Given the description of an element on the screen output the (x, y) to click on. 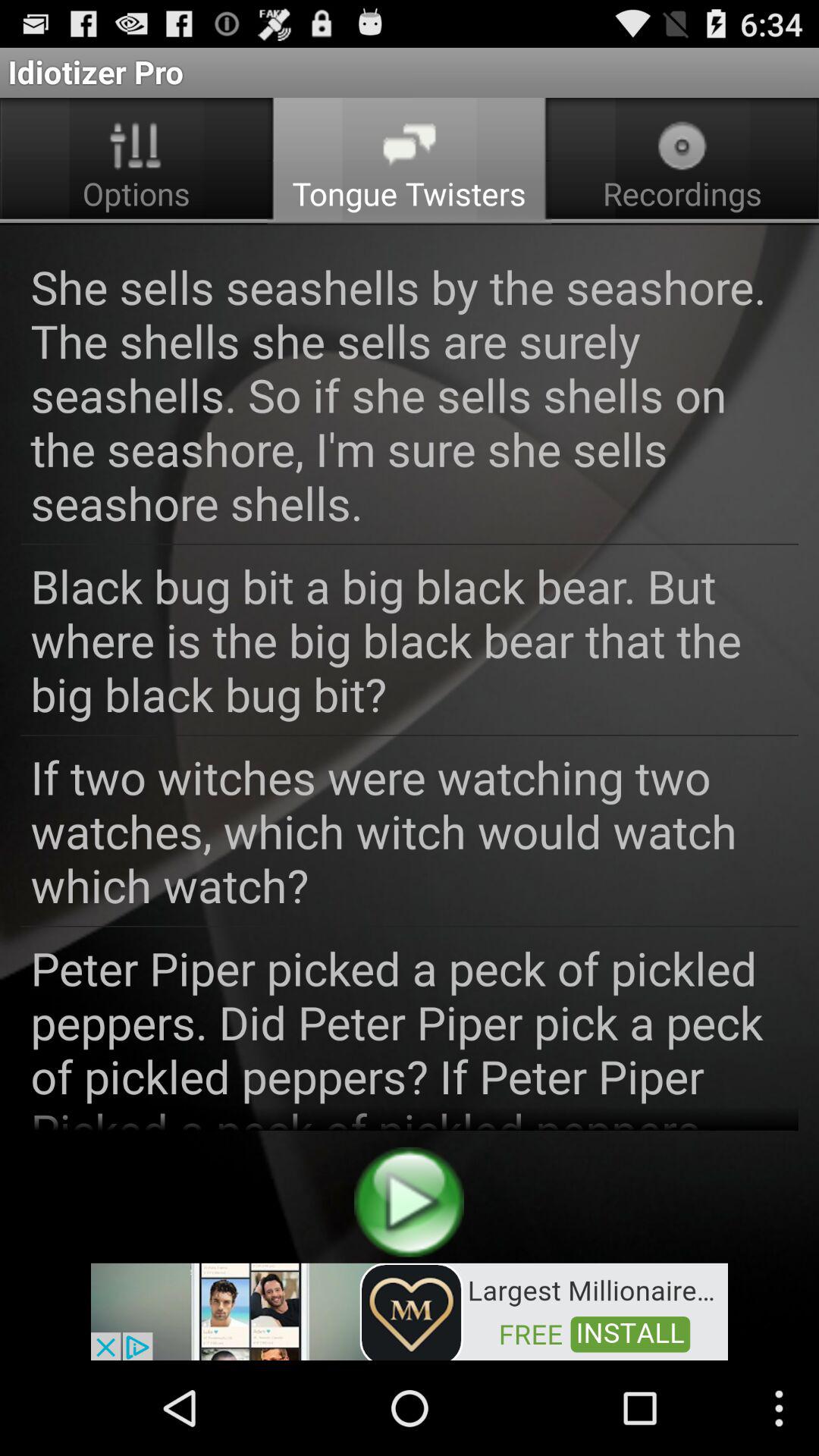
go to next (409, 1201)
